Given the description of an element on the screen output the (x, y) to click on. 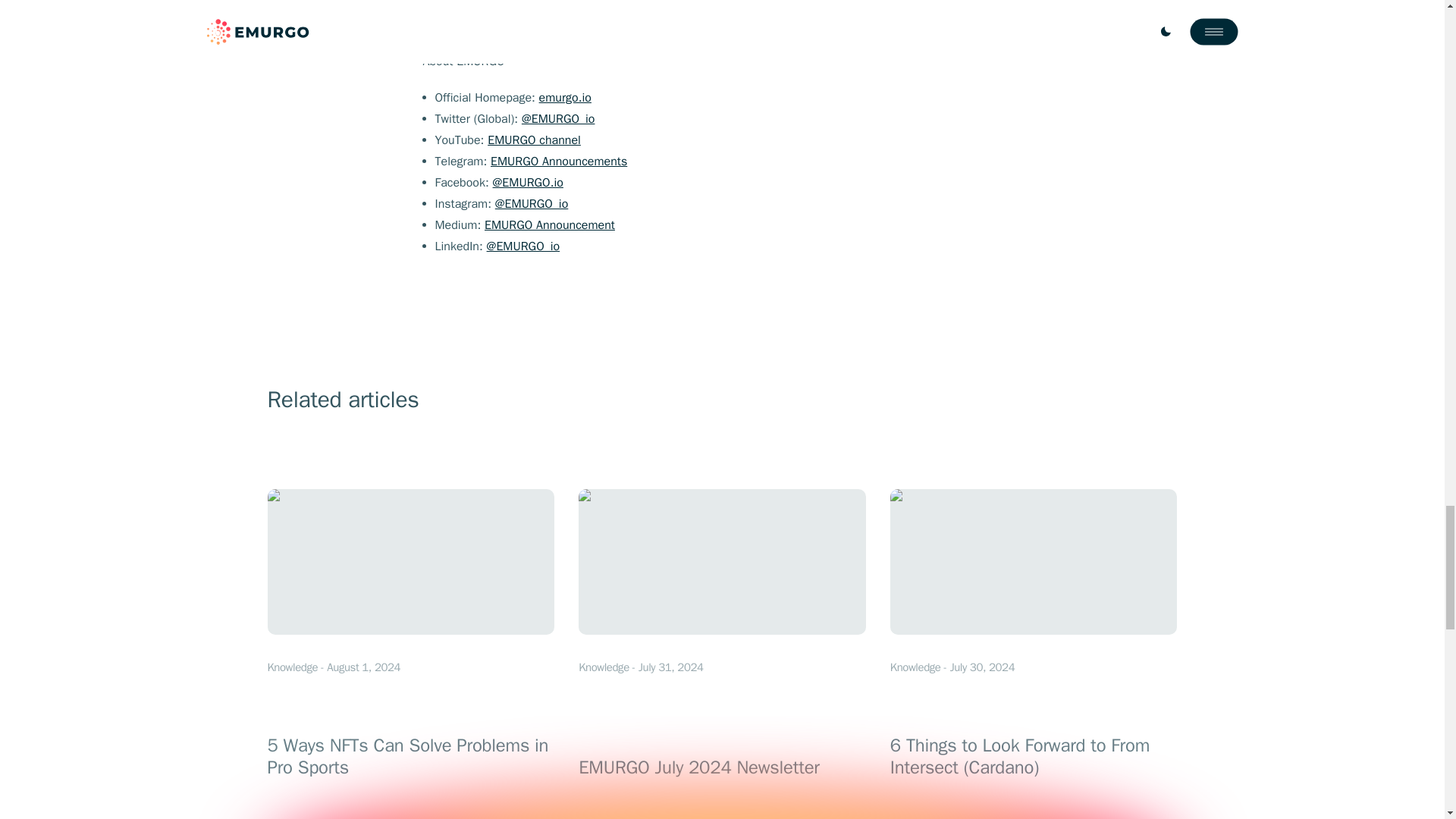
emurgo.io (564, 97)
EMURGO Announcements (558, 160)
EMURGO channel (533, 140)
EMURGO Announcement (549, 224)
